Given the description of an element on the screen output the (x, y) to click on. 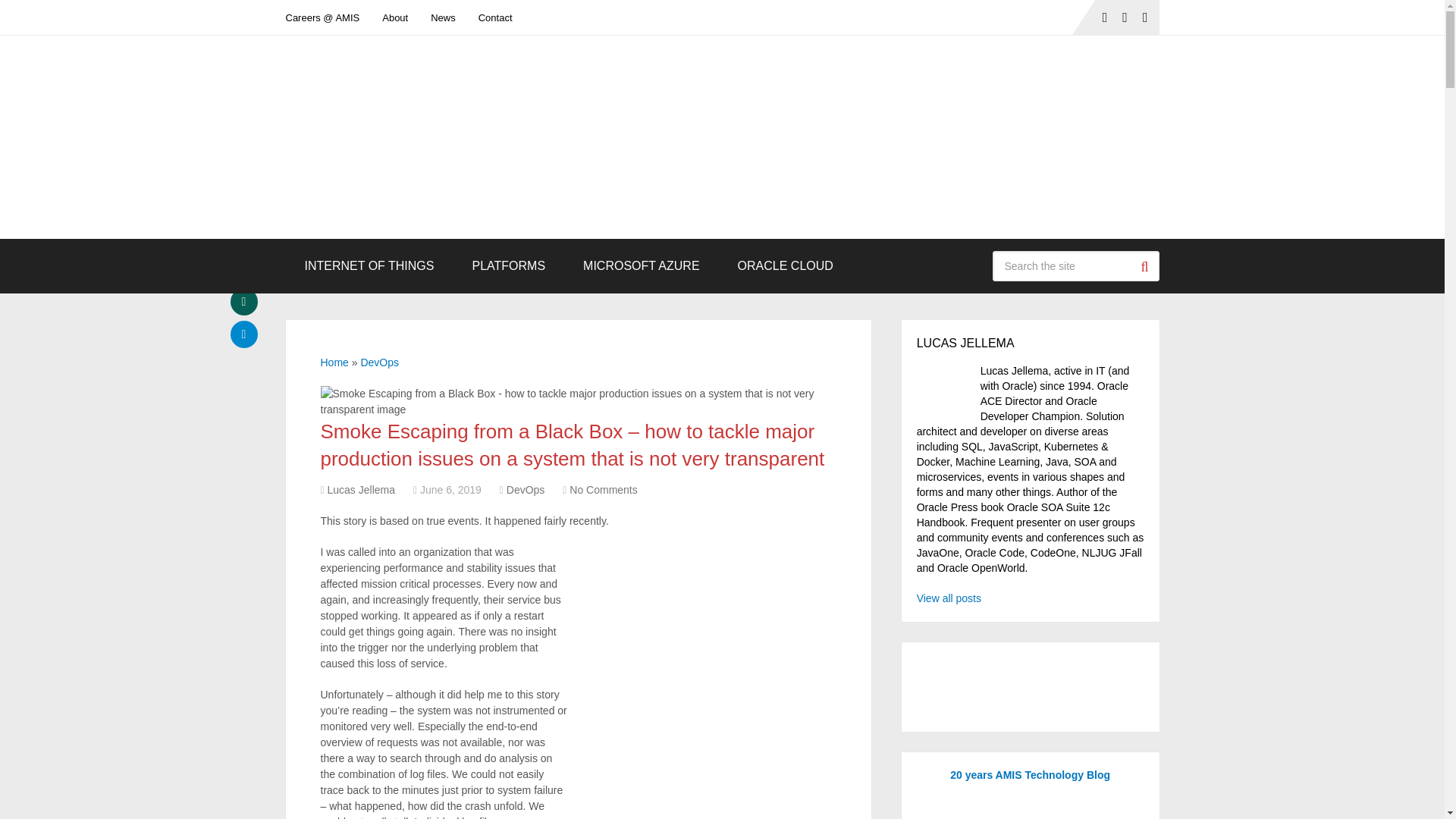
News (443, 17)
MICROSOFT AZURE (641, 266)
View all posts in DevOps (525, 490)
Posts by Lucas Jellema (361, 490)
PLATFORMS (508, 266)
About (395, 17)
blog-link (443, 17)
ORACLE CLOUD (785, 266)
image (701, 681)
